Given the description of an element on the screen output the (x, y) to click on. 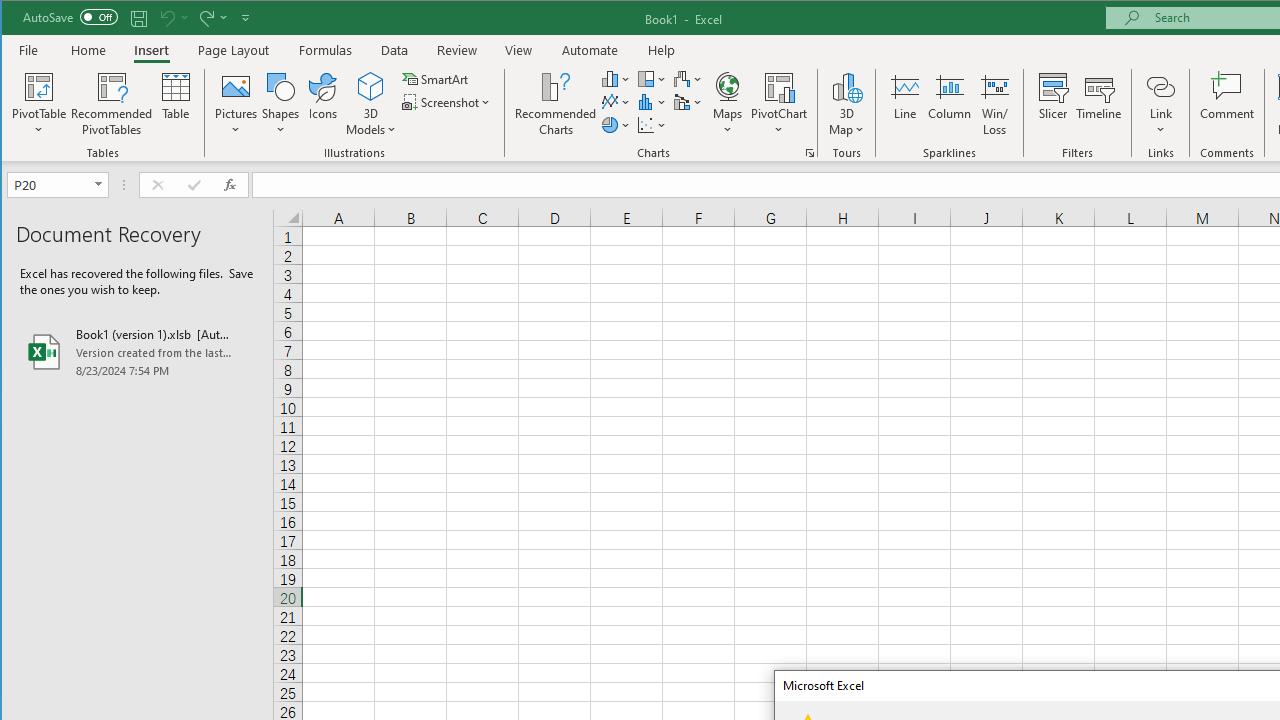
Insert Hierarchy Chart (652, 78)
Formulas (326, 50)
SmartArt... (436, 78)
Insert Statistic Chart (652, 101)
File Tab (29, 49)
Data (395, 50)
Home (88, 50)
Insert Column or Bar Chart (616, 78)
Customize Quick Access Toolbar (245, 17)
PivotChart (779, 104)
Quick Access Toolbar (137, 17)
